Given the description of an element on the screen output the (x, y) to click on. 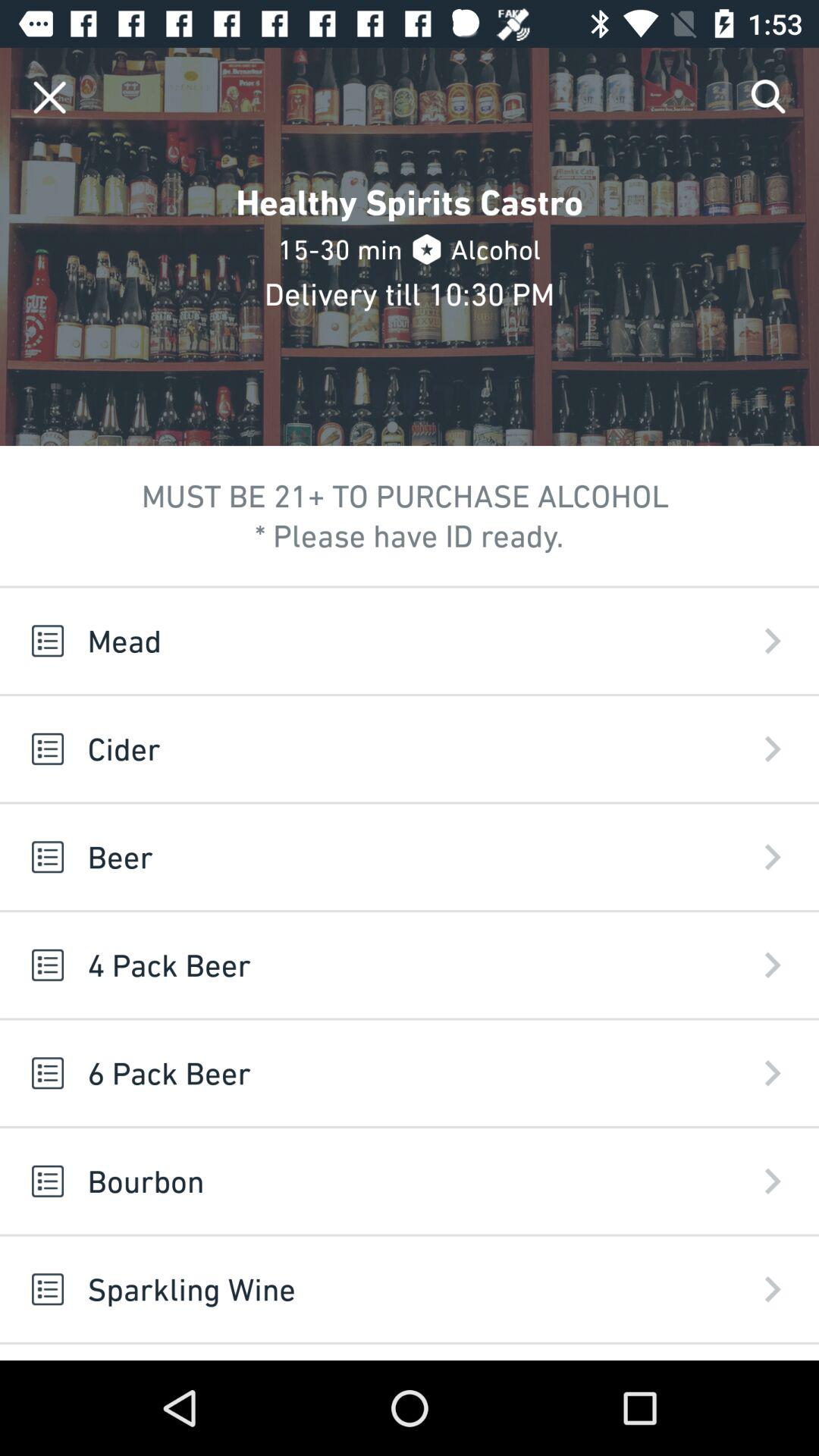
search for more (769, 97)
